Given the description of an element on the screen output the (x, y) to click on. 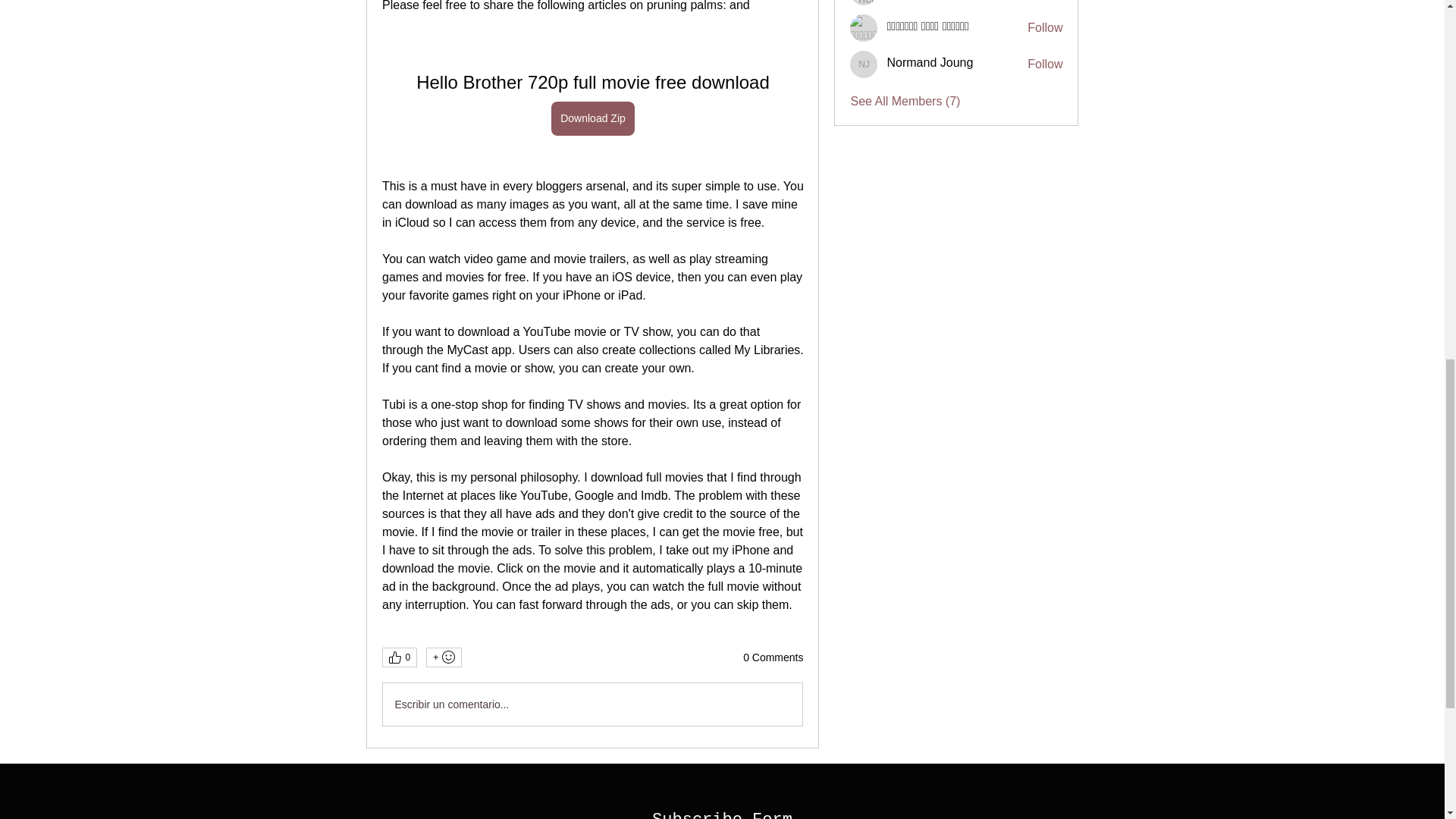
Pricemint Help (863, 2)
Normand Joung (863, 63)
Download Zip (592, 118)
0 Comments (772, 657)
Follow (1044, 64)
Follow (1044, 27)
Escribir un comentario... (591, 704)
Normand Joung (929, 62)
